Given the description of an element on the screen output the (x, y) to click on. 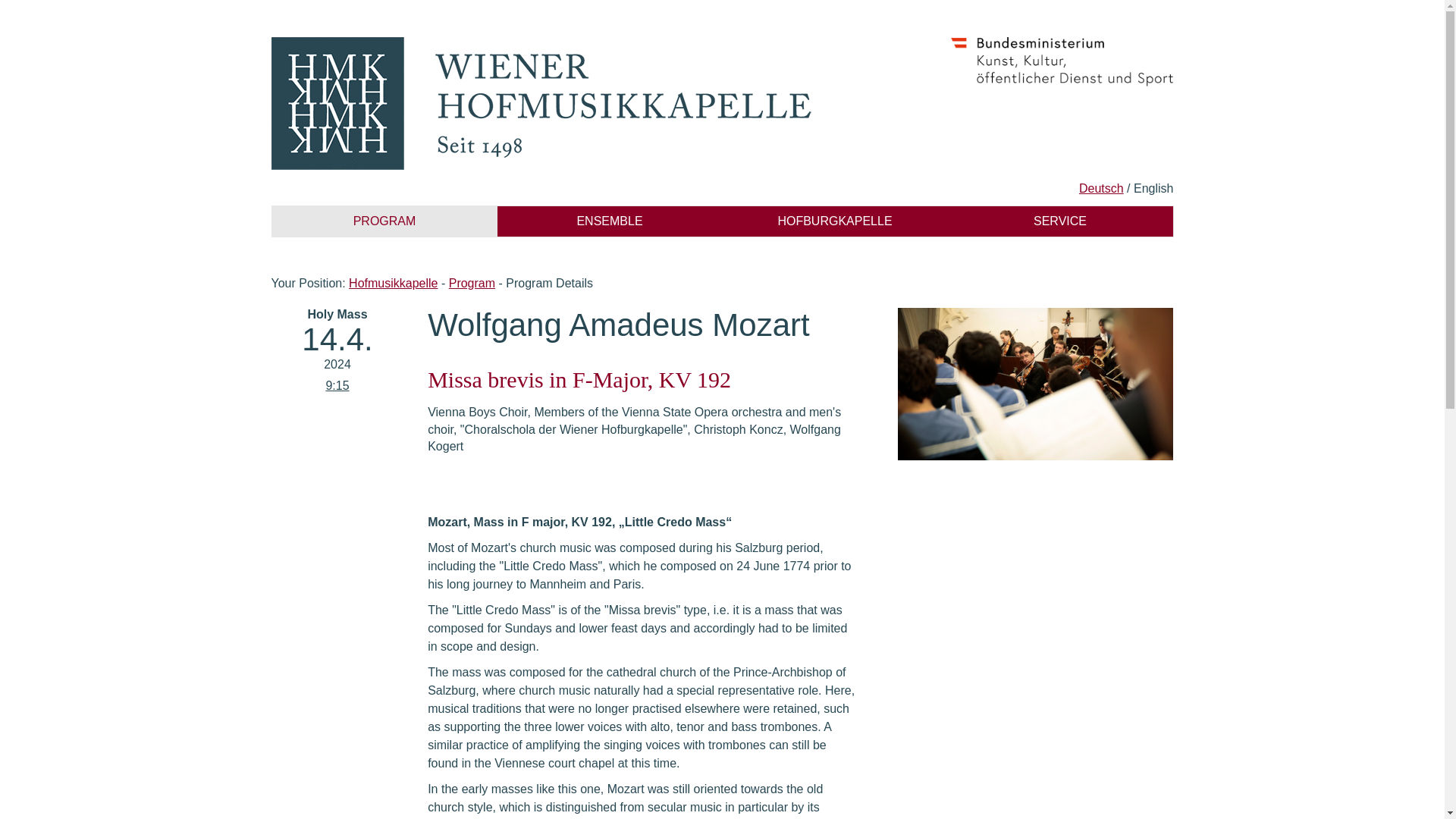
PROGRAM (383, 221)
To Hofmusikkapelle home page (547, 102)
Program (471, 282)
HOFBURGKAPELLE (834, 221)
Deutsch (1101, 187)
Hofmusikkapelle (393, 282)
ENSEMBLE (609, 221)
SERVICE (1060, 221)
